Given the description of an element on the screen output the (x, y) to click on. 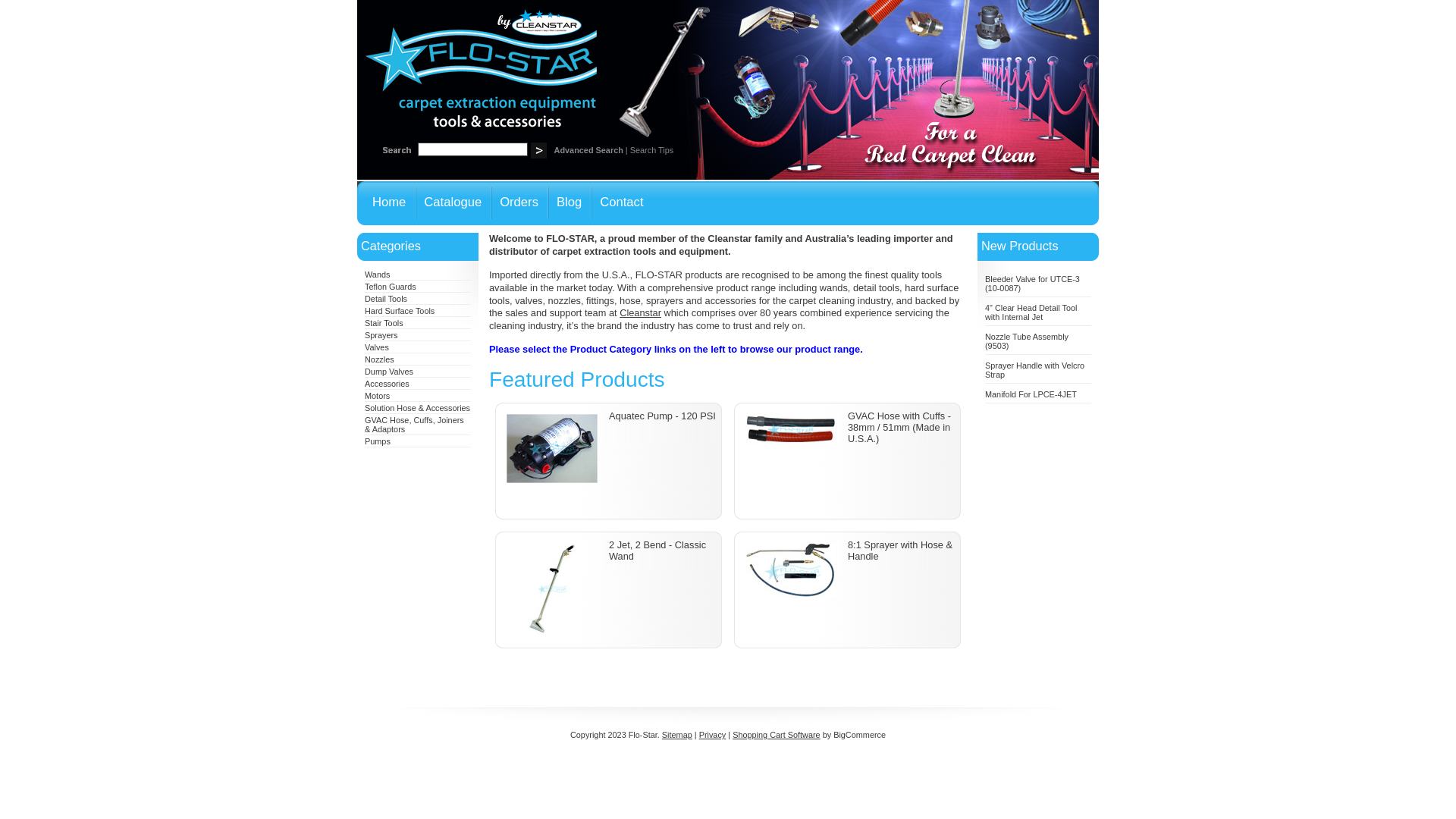
Manifold For LPCE-4JET Element type: text (1030, 393)
Home Element type: text (385, 203)
GVAC Hose, Cuffs, Joiners & Adaptors Element type: text (414, 424)
Cleanstar Element type: text (640, 312)
Search Tips Element type: text (651, 149)
Advanced Search Element type: text (588, 149)
Orders Element type: text (518, 203)
Pumps Element type: text (377, 440)
Teflon Guards Element type: text (390, 286)
Stair Tools Element type: text (383, 322)
4" Clear Head Detail Tool with Internal Jet Element type: text (1031, 312)
Nozzle Tube Assembly (9503) Element type: text (1026, 341)
Motors Element type: text (376, 395)
Blog Element type: text (568, 203)
Catalogue Element type: text (452, 203)
Sprayers Element type: text (381, 334)
Wands Element type: text (376, 274)
Valves Element type: text (376, 346)
2 Jet, 2 Bend - Classic Wand Element type: text (657, 550)
Hard Surface Tools Element type: text (399, 310)
GVAC Hose with Cuffs - 38mm / 51mm (Made in U.S.A.) Element type: text (898, 427)
Detail Tools Element type: text (385, 298)
Solution Hose & Accessories Element type: text (417, 407)
Privacy Element type: text (712, 734)
Contact Element type: text (621, 203)
Dump Valves Element type: text (388, 371)
Sitemap Element type: text (677, 734)
Shopping Cart Software Element type: text (775, 734)
Sprayer Handle with Velcro Strap Element type: text (1034, 369)
Bleeder Valve for UTCE-3 (10-0087) Element type: text (1032, 283)
8:1 Sprayer with Hose & Handle Element type: text (899, 550)
Nozzles Element type: text (379, 359)
Aquatec Pump - 120 PSI Element type: text (661, 415)
Accessories Element type: text (386, 383)
